Given the description of an element on the screen output the (x, y) to click on. 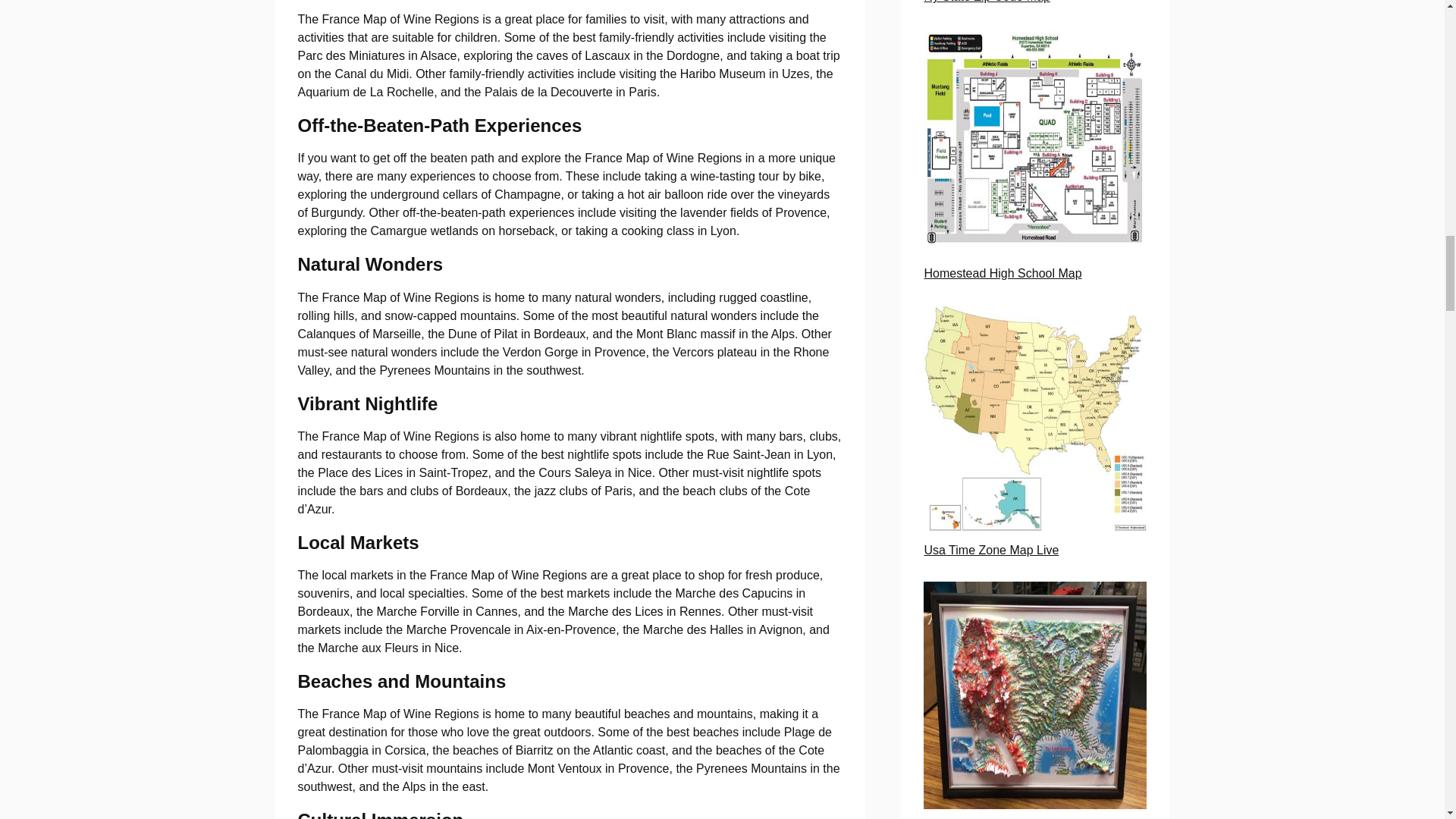
Ny State Zip Code Map (986, 1)
